Given the description of an element on the screen output the (x, y) to click on. 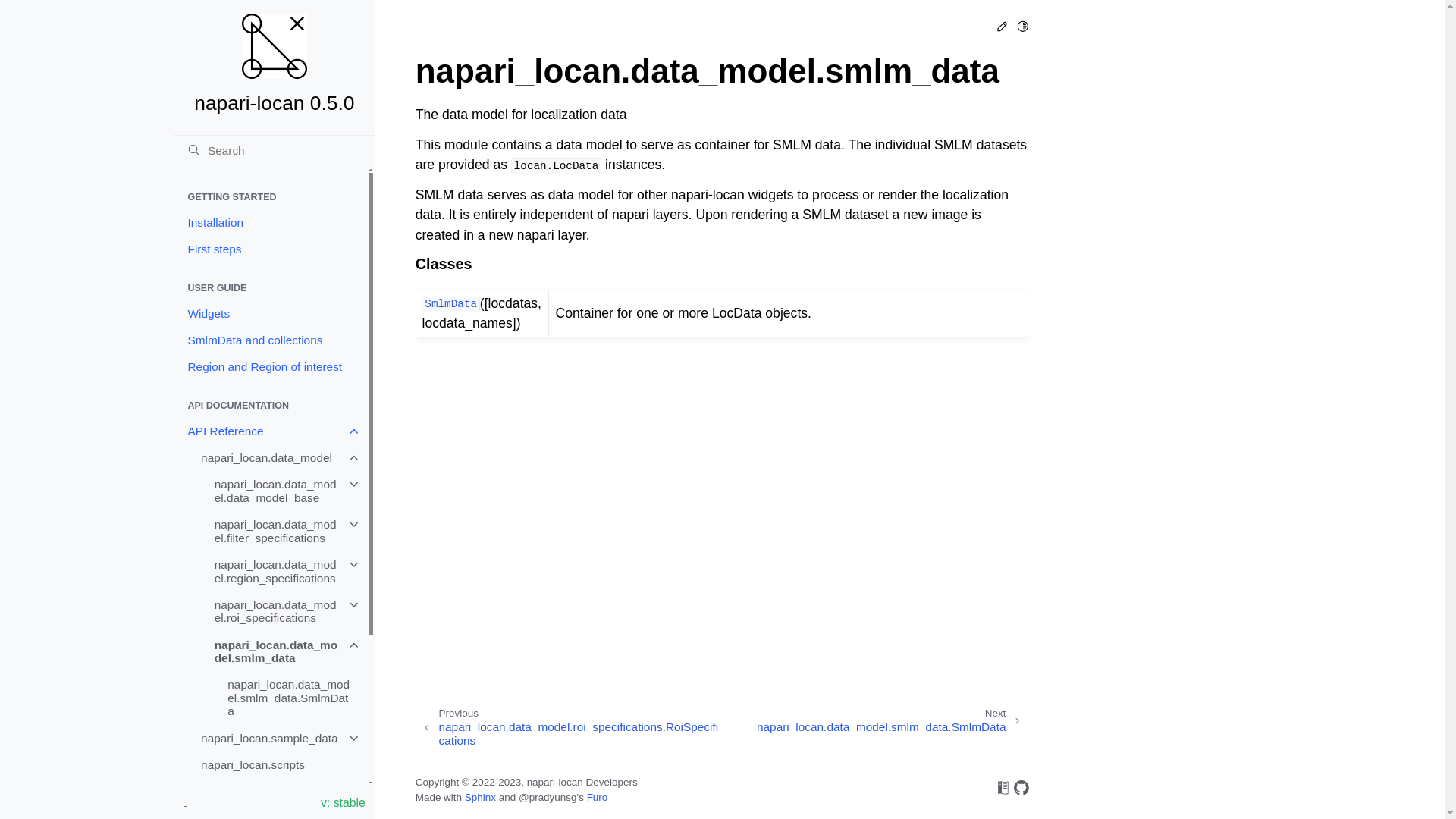
napari-locan 0.5.0 (274, 63)
First steps (270, 248)
API Reference (270, 430)
Region and Region of interest (270, 366)
Edit this page (1002, 28)
Installation (270, 222)
SmlmData and collections (270, 339)
Widgets (270, 313)
